Given the description of an element on the screen output the (x, y) to click on. 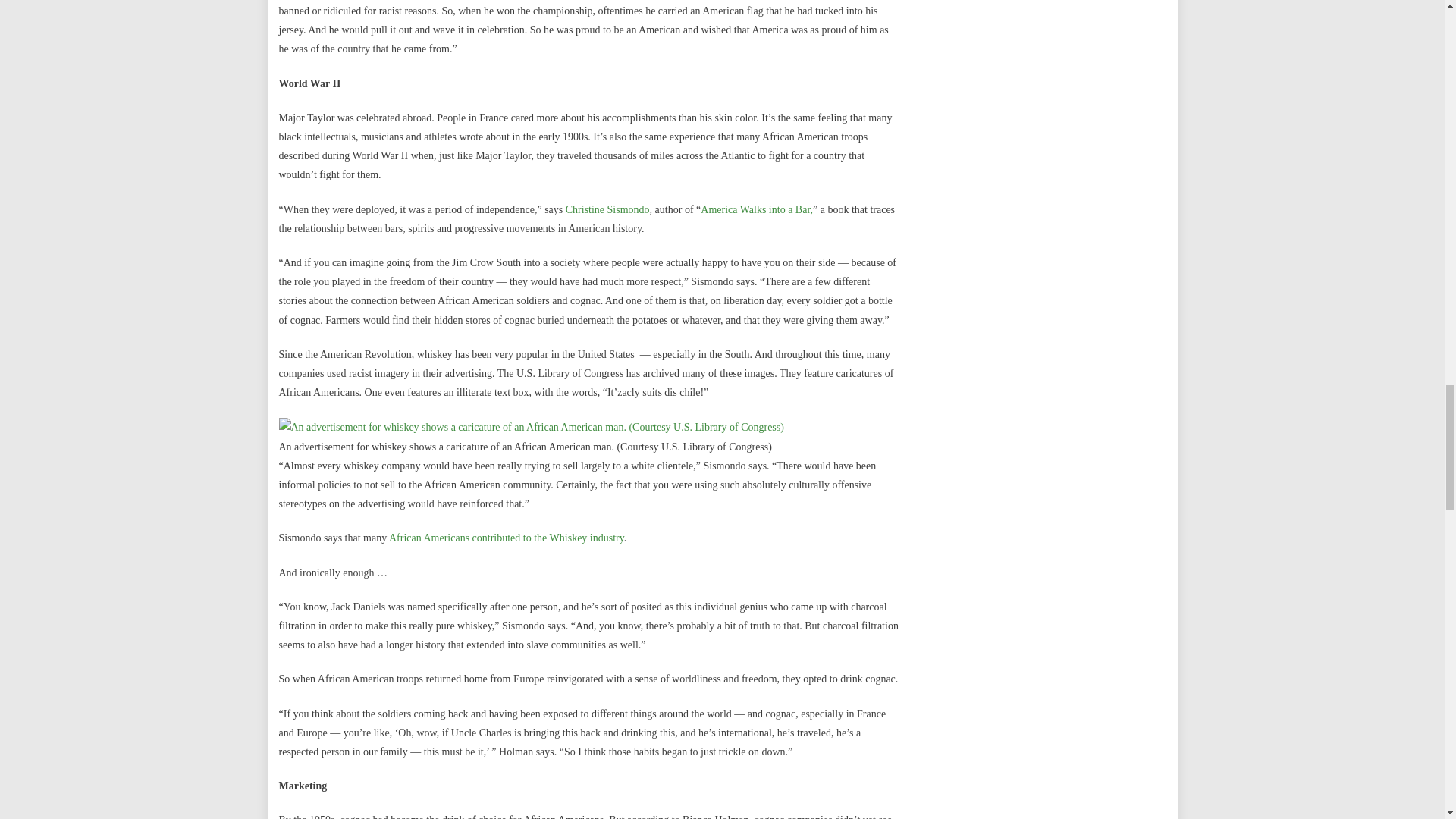
African Americans contributed to the Whiskey industry (506, 537)
America Walks into a Bar, (756, 209)
Christine Sismondo (607, 209)
